Given the description of an element on the screen output the (x, y) to click on. 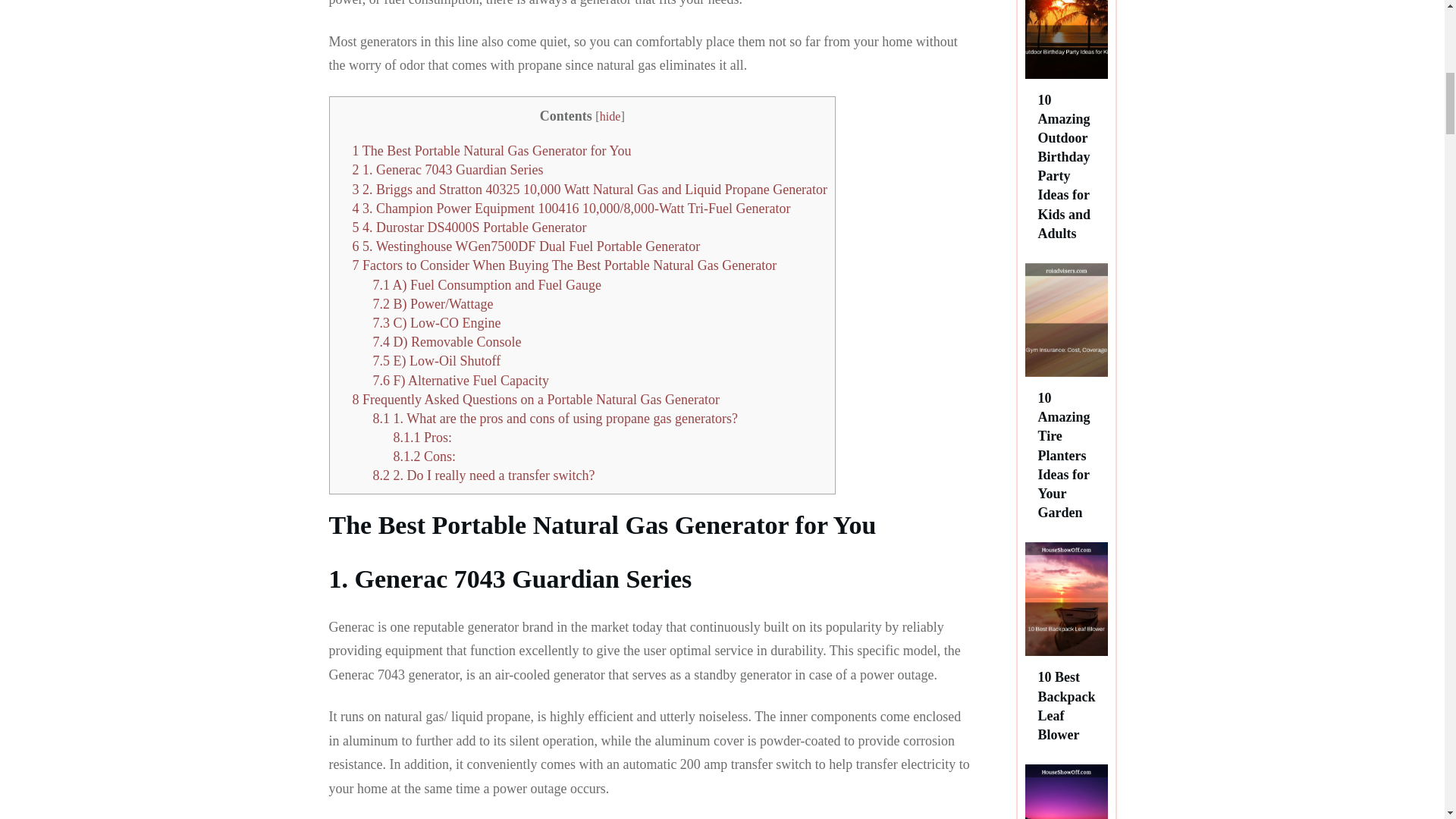
1 The Best Portable Natural Gas Generator for You (491, 150)
5 4. Durostar DS4000S Portable Generator (469, 227)
2 1. Generac 7043 Guardian Series (447, 169)
hide (610, 116)
6 5. Westinghouse WGen7500DF Dual Fuel Portable Generator (526, 246)
